Given the description of an element on the screen output the (x, y) to click on. 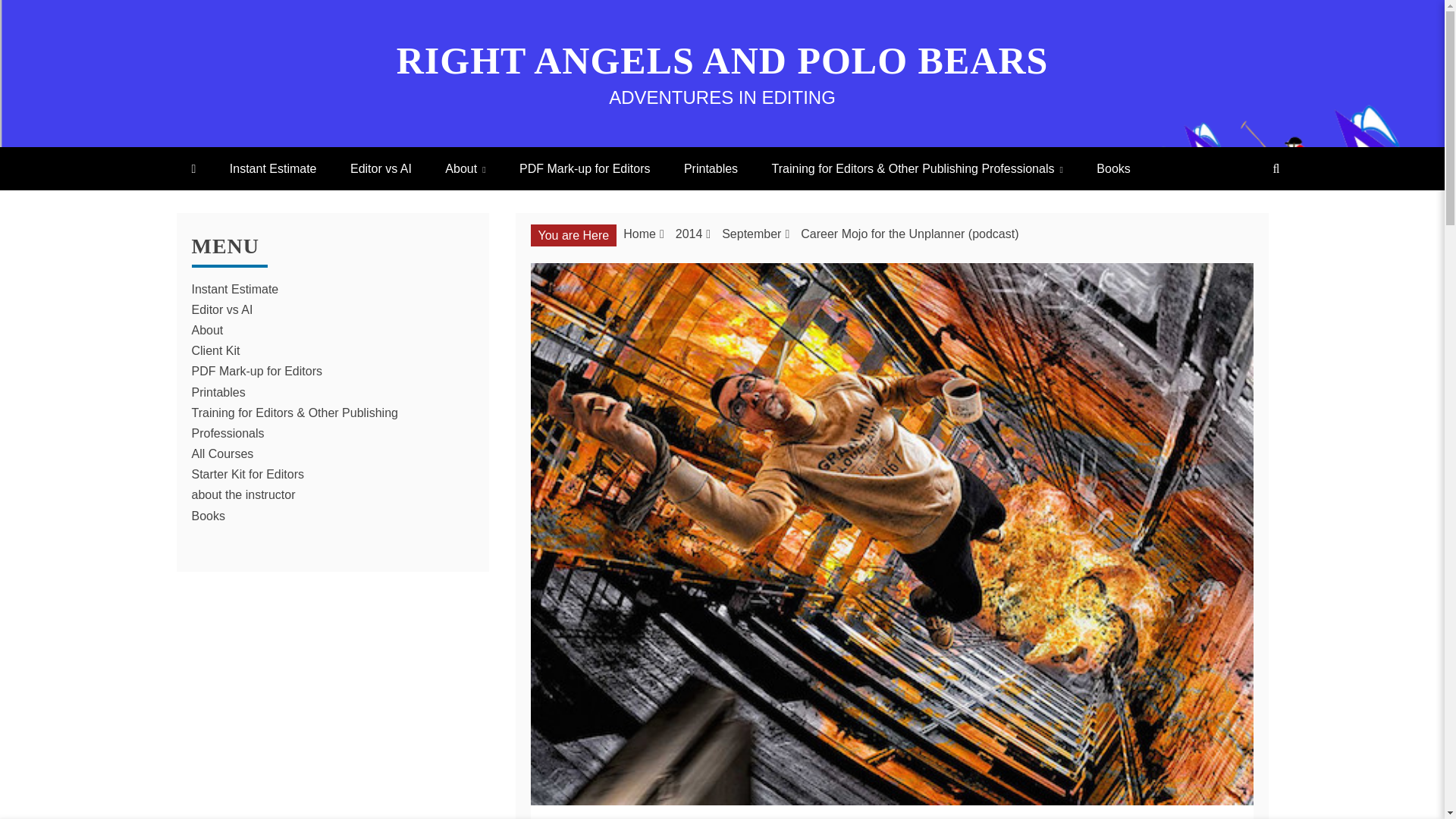
Editor vs AI (380, 168)
Printables (710, 168)
2014 (689, 233)
Home (639, 233)
Instant Estimate (272, 168)
About (464, 168)
Books (1112, 168)
PDF Mark-up for Editors (584, 168)
September (751, 233)
RIGHT ANGELS AND POLO BEARS (722, 60)
